Given the description of an element on the screen output the (x, y) to click on. 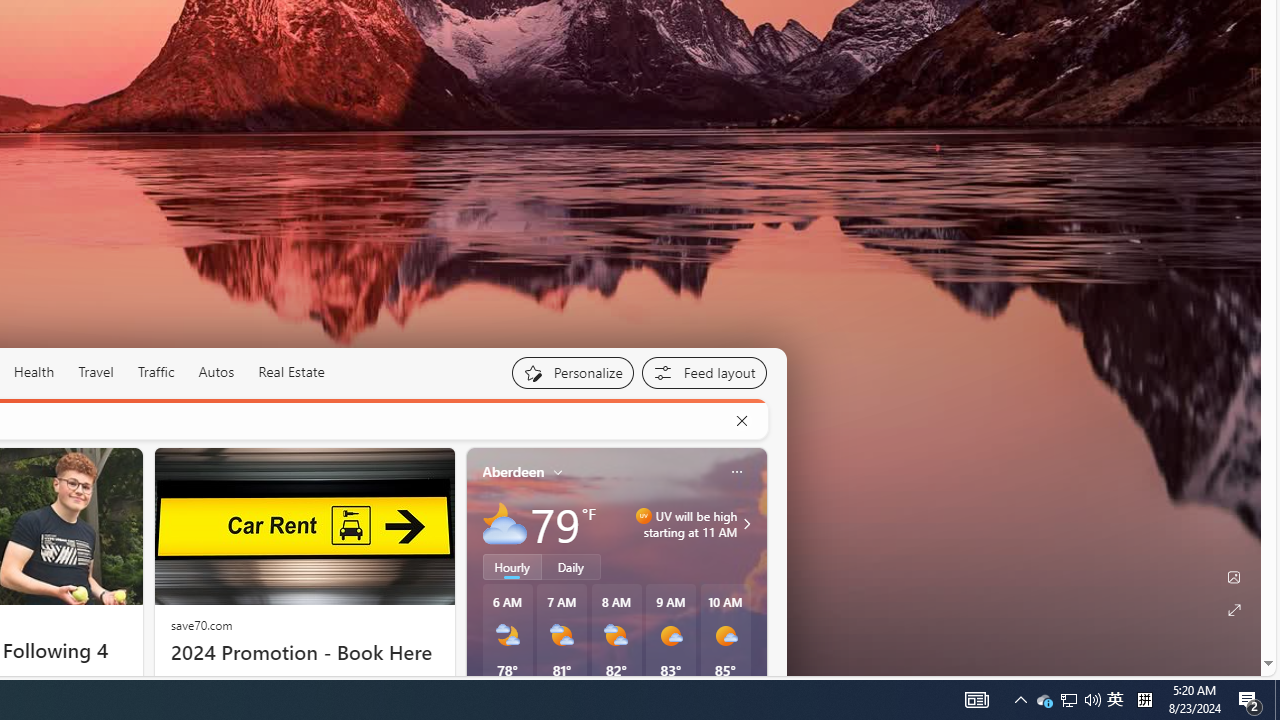
Class: weather-arrow-glyph (746, 523)
Real Estate (291, 371)
Feed settings (703, 372)
Personalize your feed" (571, 372)
2024 Promotion - Book Here (304, 652)
Health (34, 371)
Autos (215, 371)
Daily (571, 566)
save70.com (201, 624)
